Given the description of an element on the screen output the (x, y) to click on. 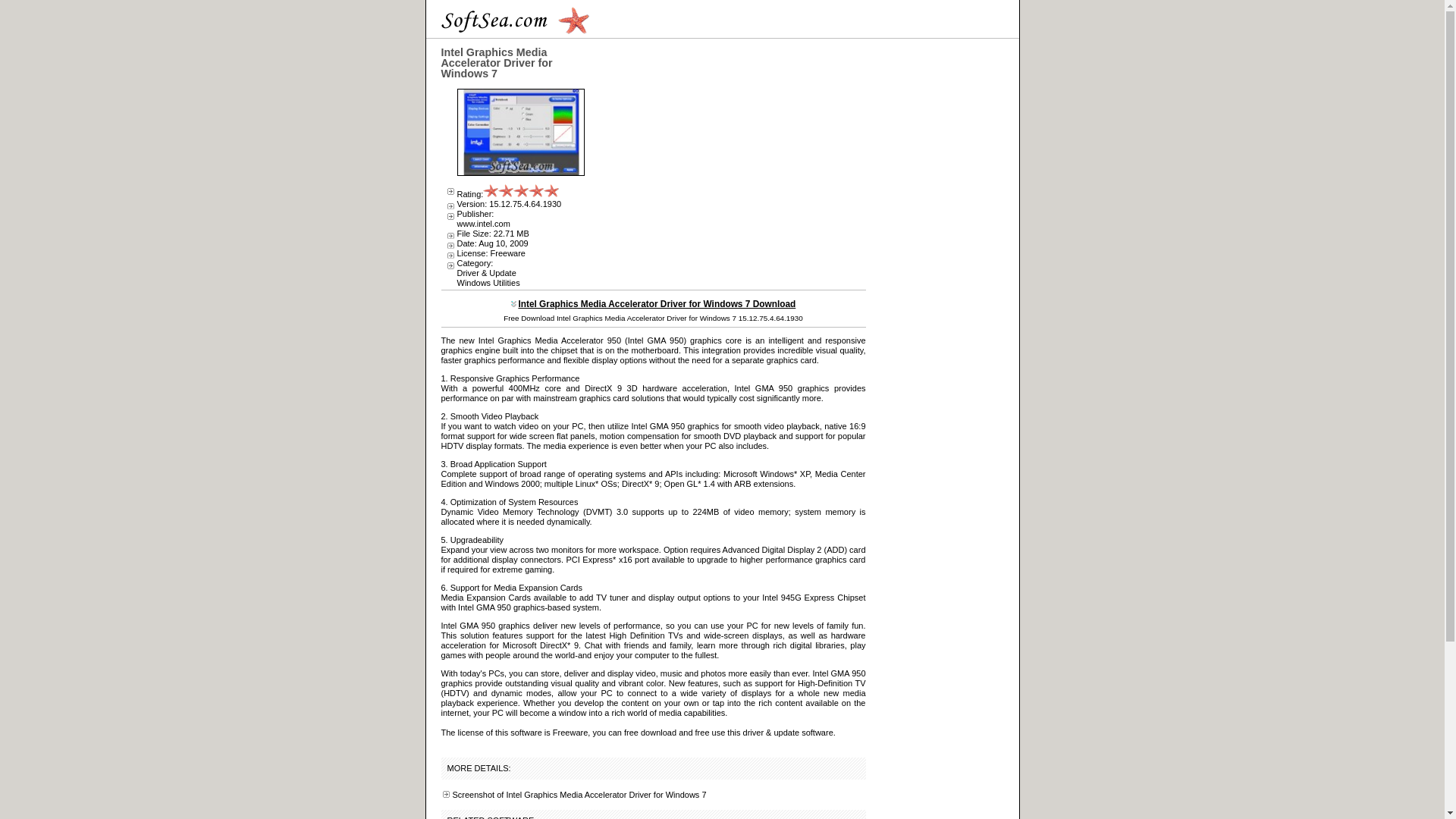
Advertisement (727, 152)
